Given the description of an element on the screen output the (x, y) to click on. 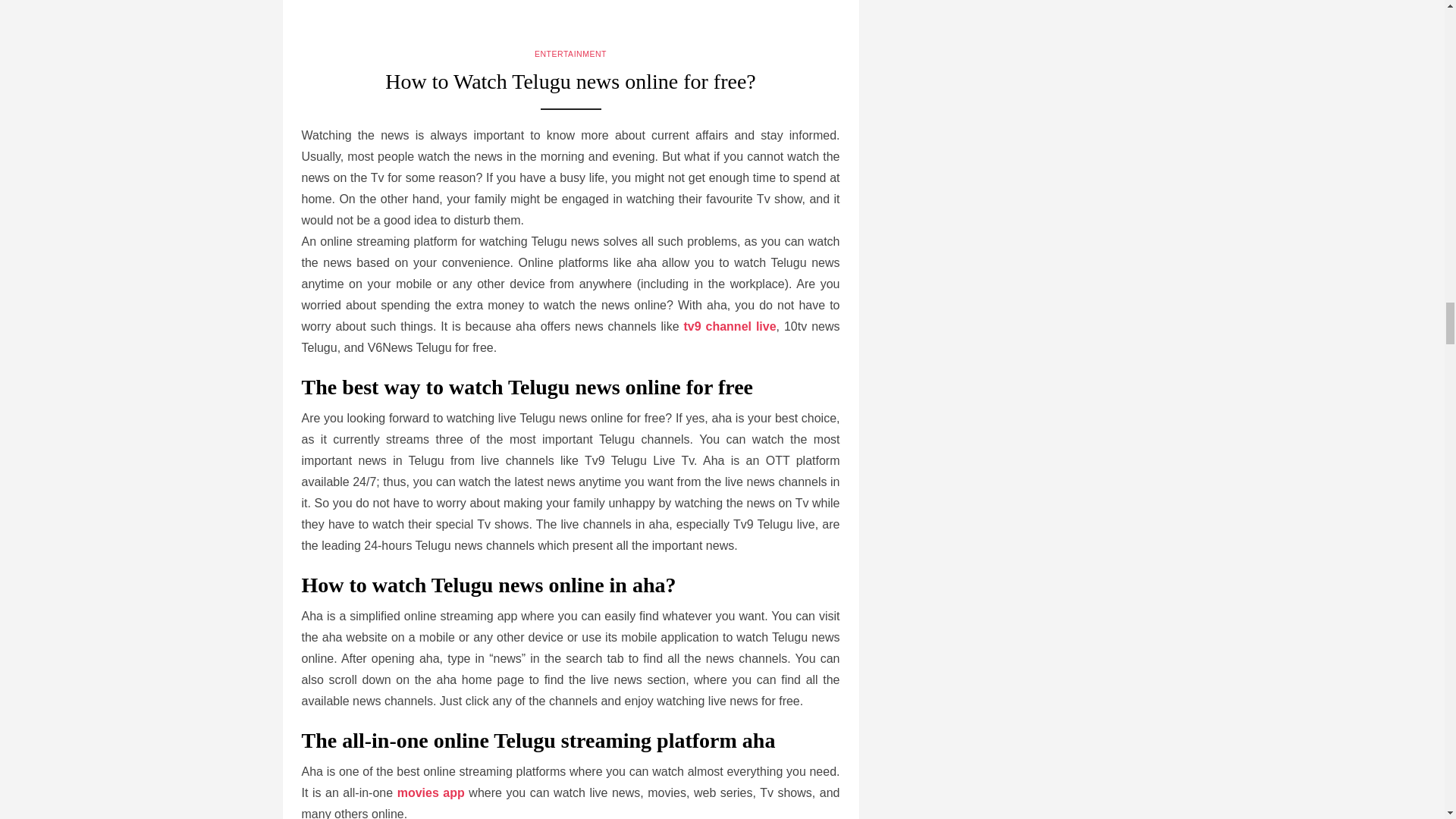
ENTERTAINMENT (570, 53)
movies app (430, 792)
tv9 channel live (729, 326)
How to Watch Telugu news online for free? (570, 18)
How to Watch Telugu news online for free? (570, 88)
